Given the description of an element on the screen output the (x, y) to click on. 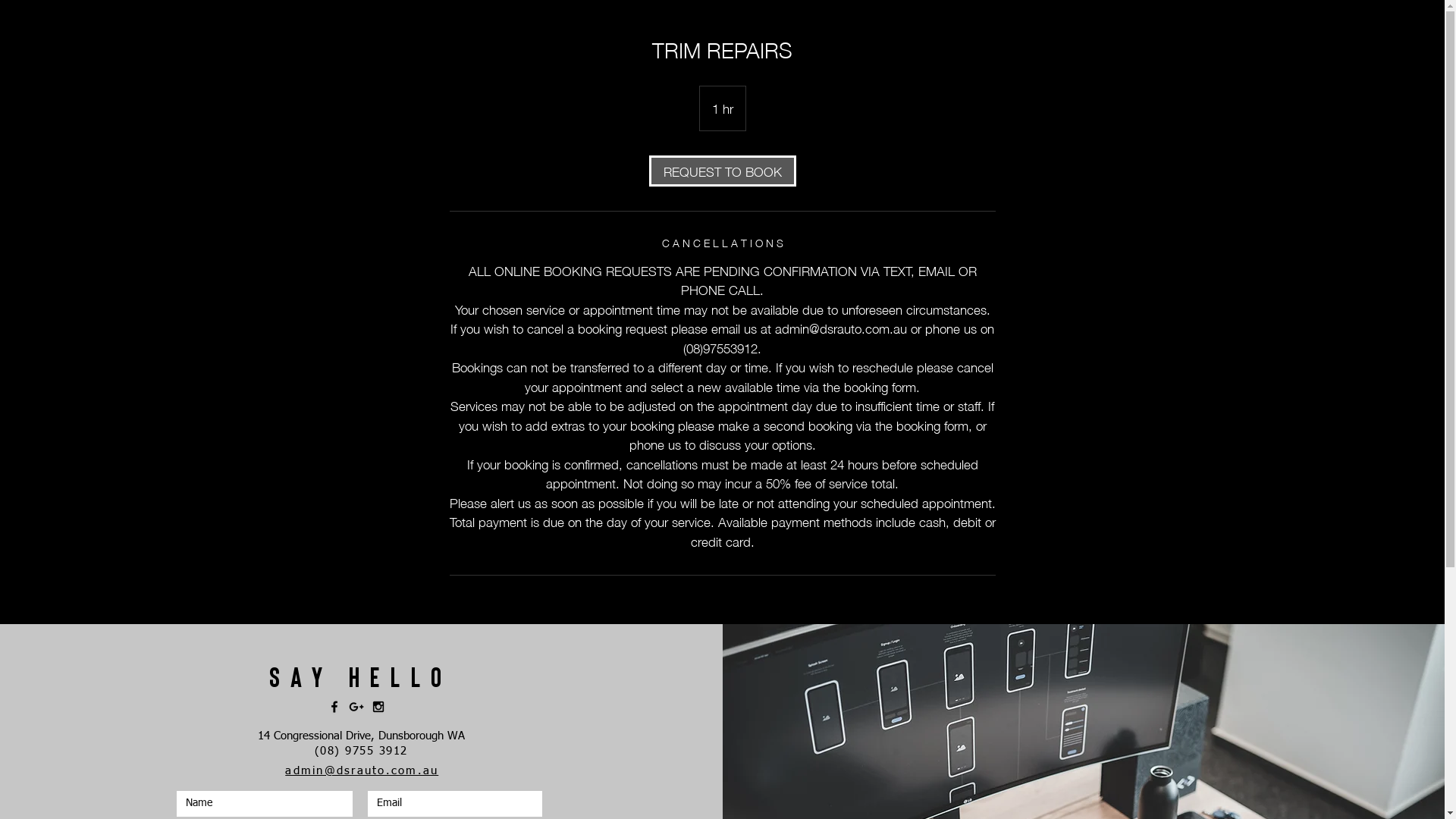
REQUEST TO BOOK Element type: text (722, 169)
+ Panel & Paint Services Element type: text (884, 41)
+ About Us Element type: text (732, 41)
(08) 9755 3912 Element type: text (360, 750)
admin@dsrauto.com.au Element type: text (361, 769)
Home Element type: text (426, 41)
Request a Quote Element type: text (579, 41)
+ Custom Restorations Element type: text (1037, 41)
